Given the description of an element on the screen output the (x, y) to click on. 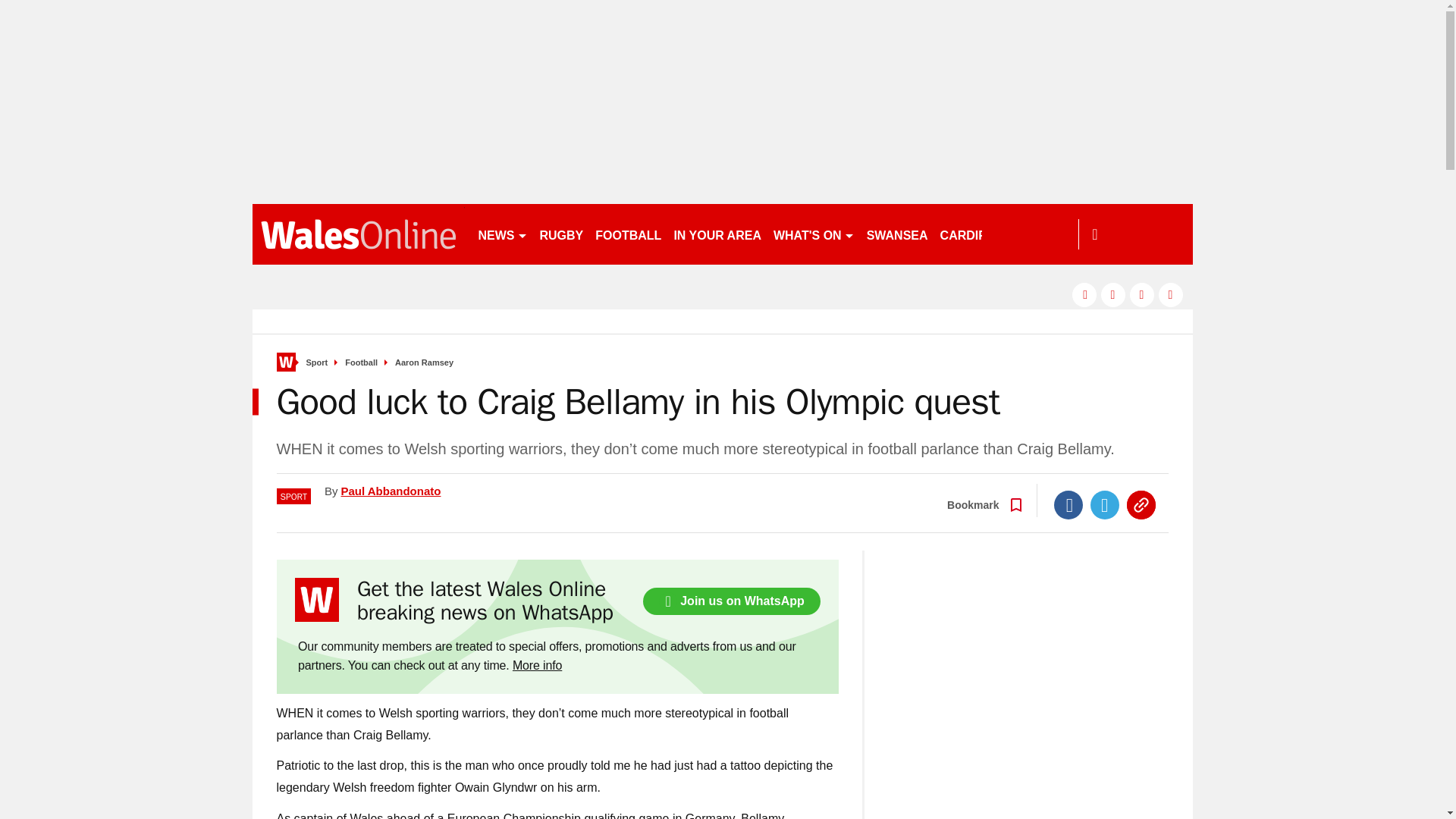
Facebook (1068, 504)
NEWS (501, 233)
WHAT'S ON (813, 233)
twitter (1112, 294)
walesonline (357, 233)
pinterest (1141, 294)
RUGBY (561, 233)
instagram (1170, 294)
IN YOUR AREA (716, 233)
Twitter (1104, 504)
facebook (1083, 294)
SWANSEA (897, 233)
FOOTBALL (627, 233)
